Given the description of an element on the screen output the (x, y) to click on. 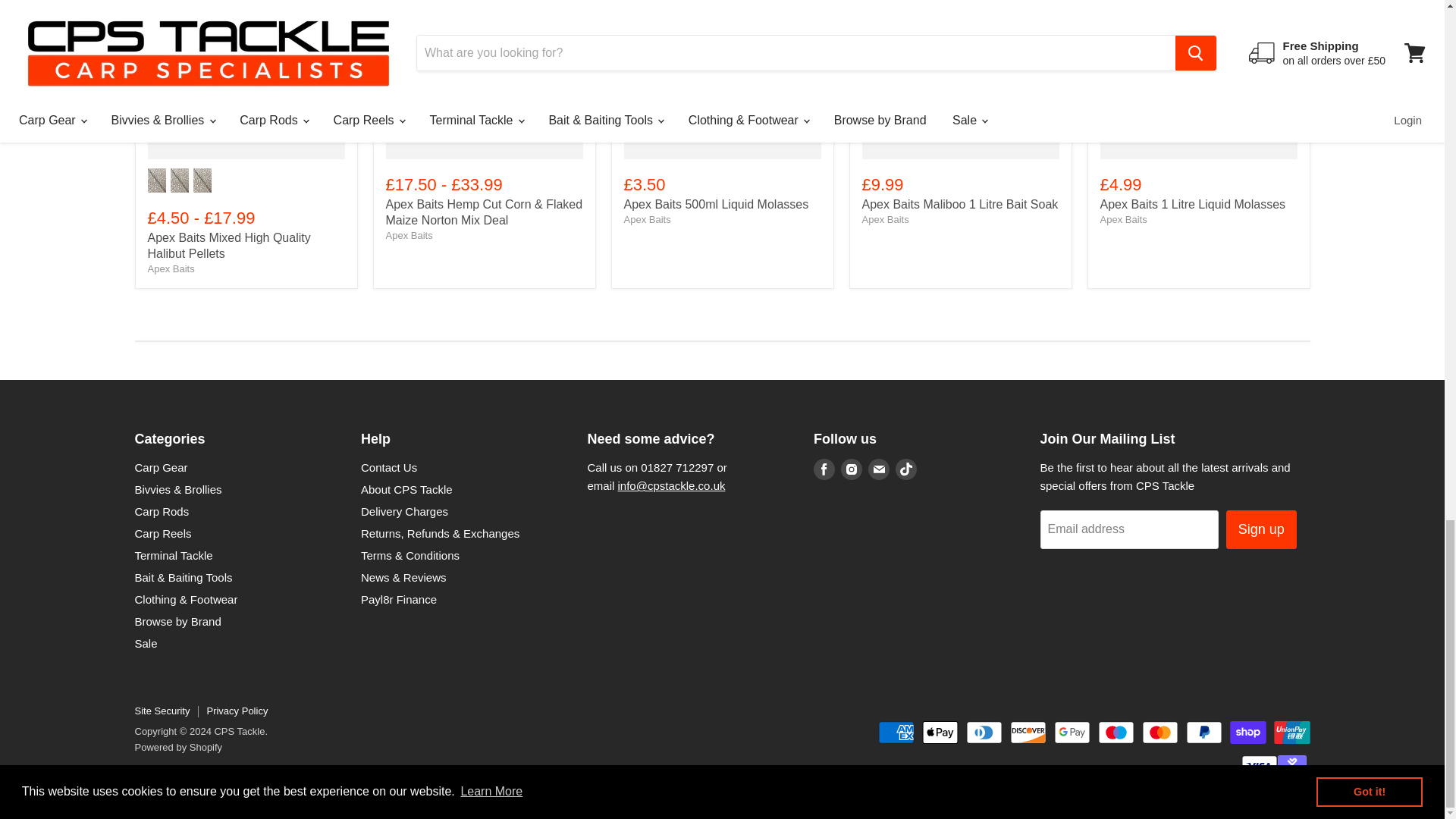
Apex Baits (1123, 219)
Apex Baits (408, 235)
Facebook (823, 468)
Apex Baits (170, 268)
Apex Baits (884, 219)
TikTok (906, 468)
Instagram (851, 468)
Email (878, 468)
Apex Baits (646, 219)
